Given the description of an element on the screen output the (x, y) to click on. 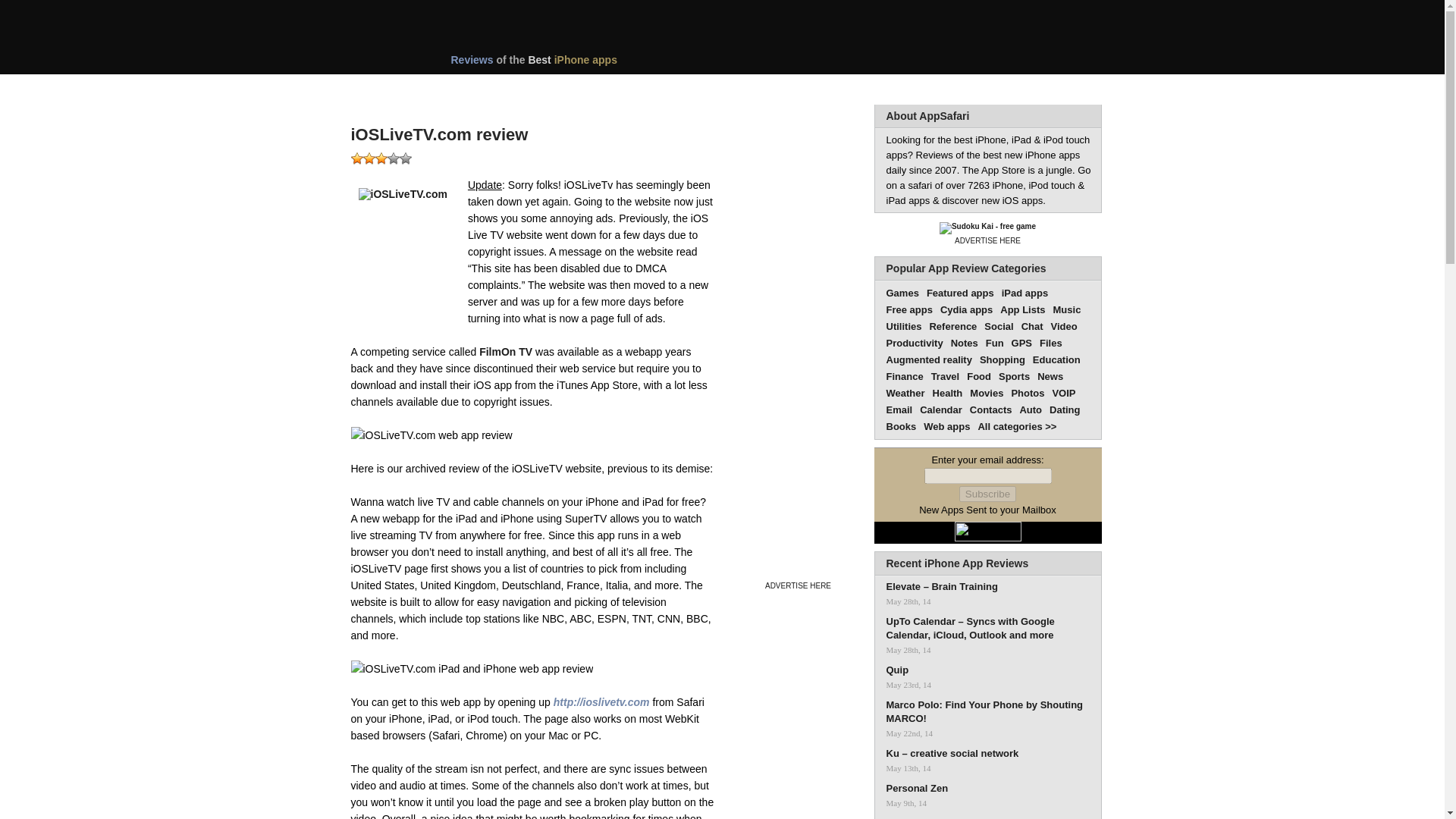
New App Reviews (394, 89)
Daily iPhone App Giveaway (703, 89)
Awful (356, 158)
Tweet (571, 156)
Submit (781, 89)
Submit a new iPhone App (781, 89)
Reviews of the Best iPhone apps (588, 64)
App Giveaway (703, 89)
Average (380, 158)
